Given the description of an element on the screen output the (x, y) to click on. 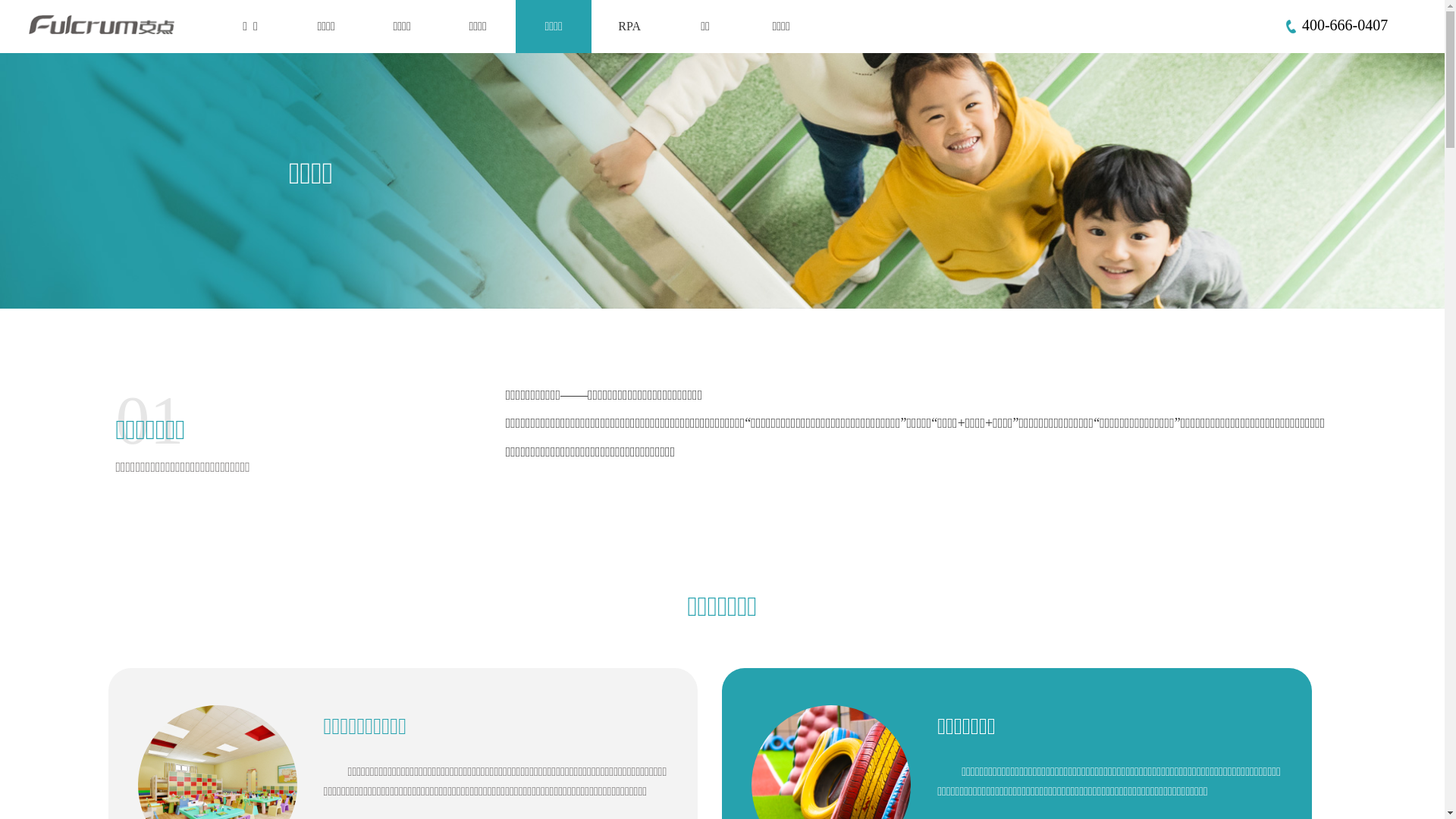
RPA Element type: text (629, 26)
